Given the description of an element on the screen output the (x, y) to click on. 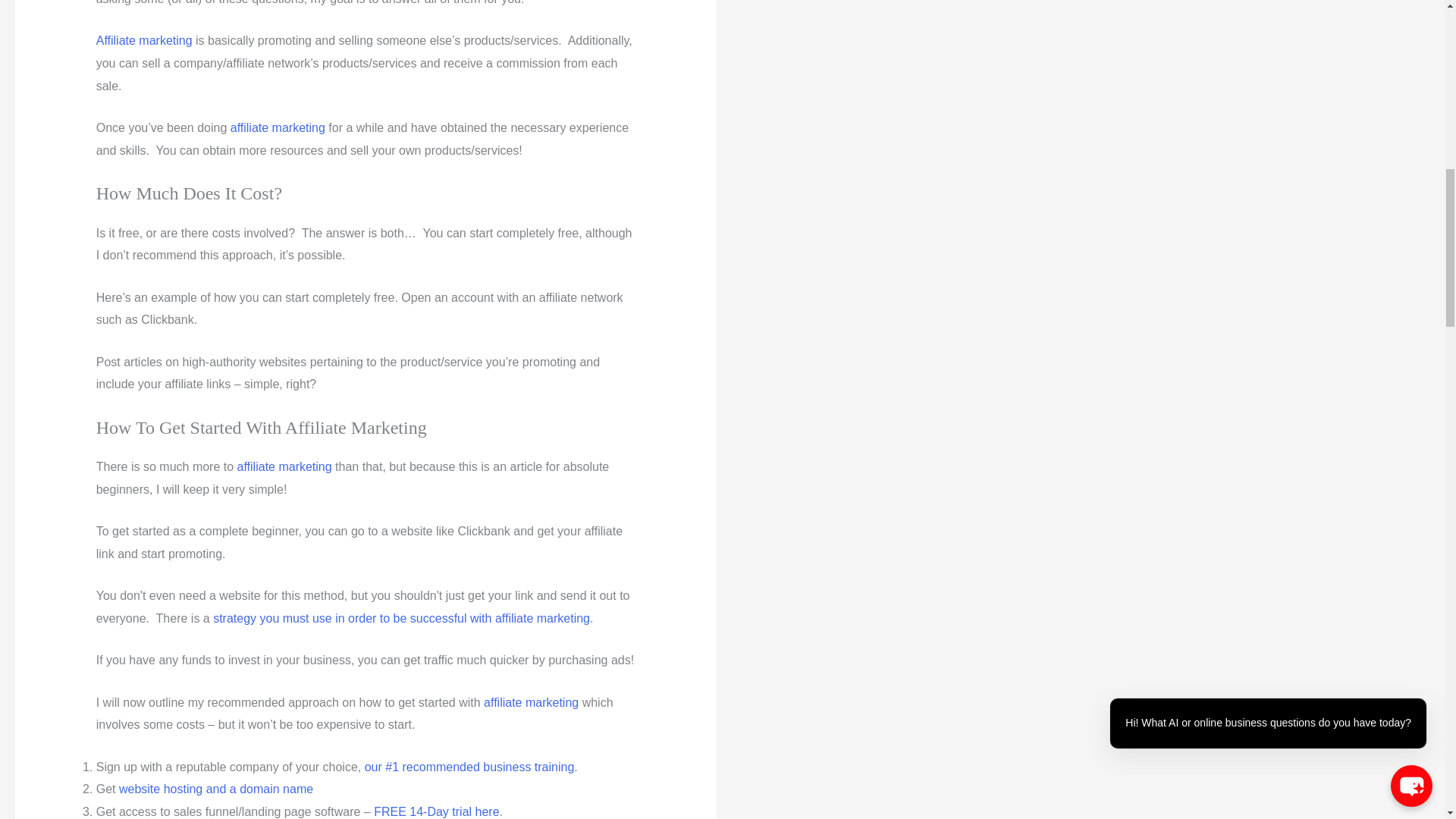
Affiliate marketing (144, 40)
affiliate marketing (277, 127)
affiliate marketing (284, 466)
